Given the description of an element on the screen output the (x, y) to click on. 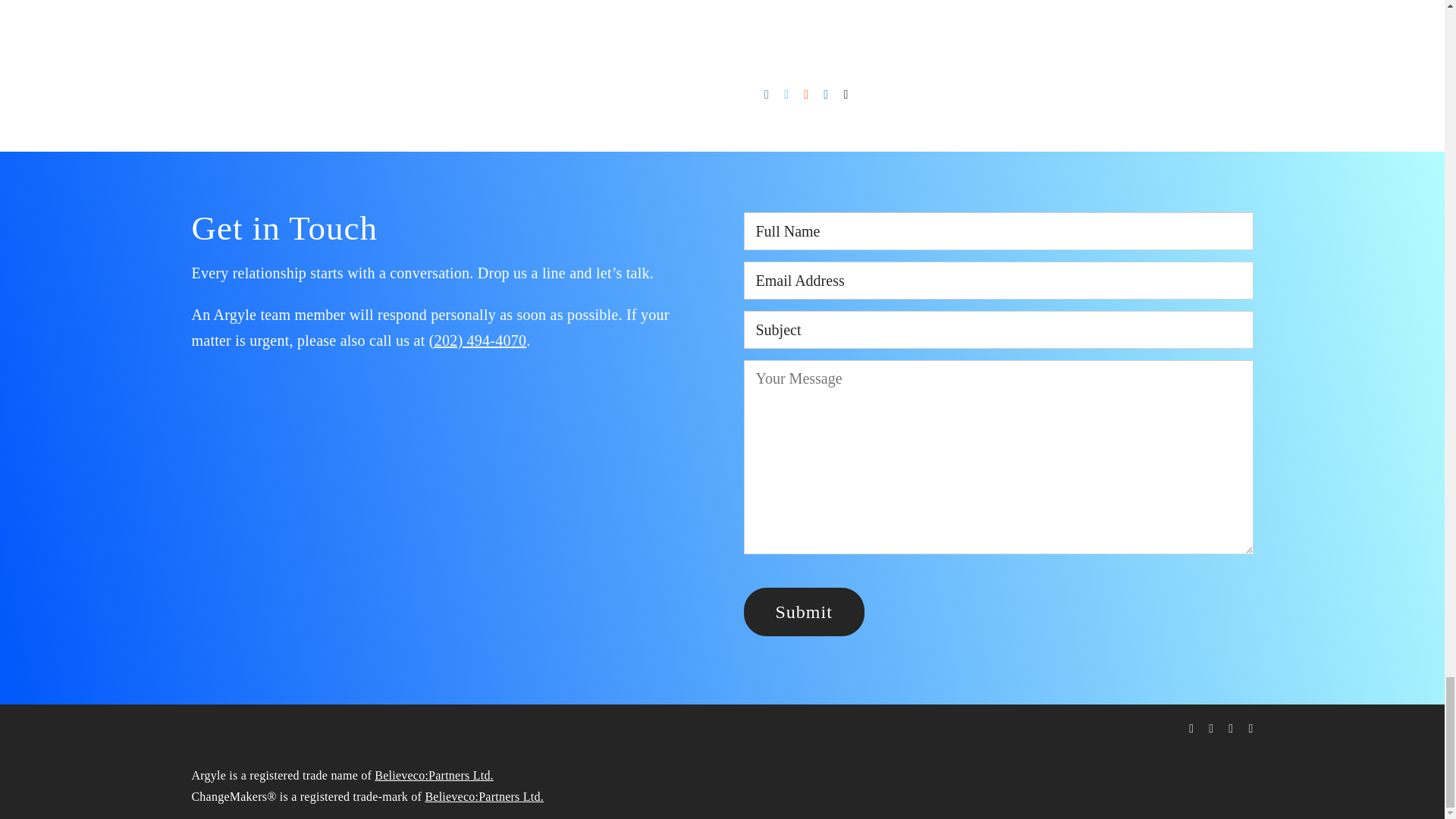
Submit (802, 612)
Reddit (805, 94)
LinkedIn (825, 94)
Email (845, 94)
Twitter (786, 94)
Facebook (766, 94)
